Given the description of an element on the screen output the (x, y) to click on. 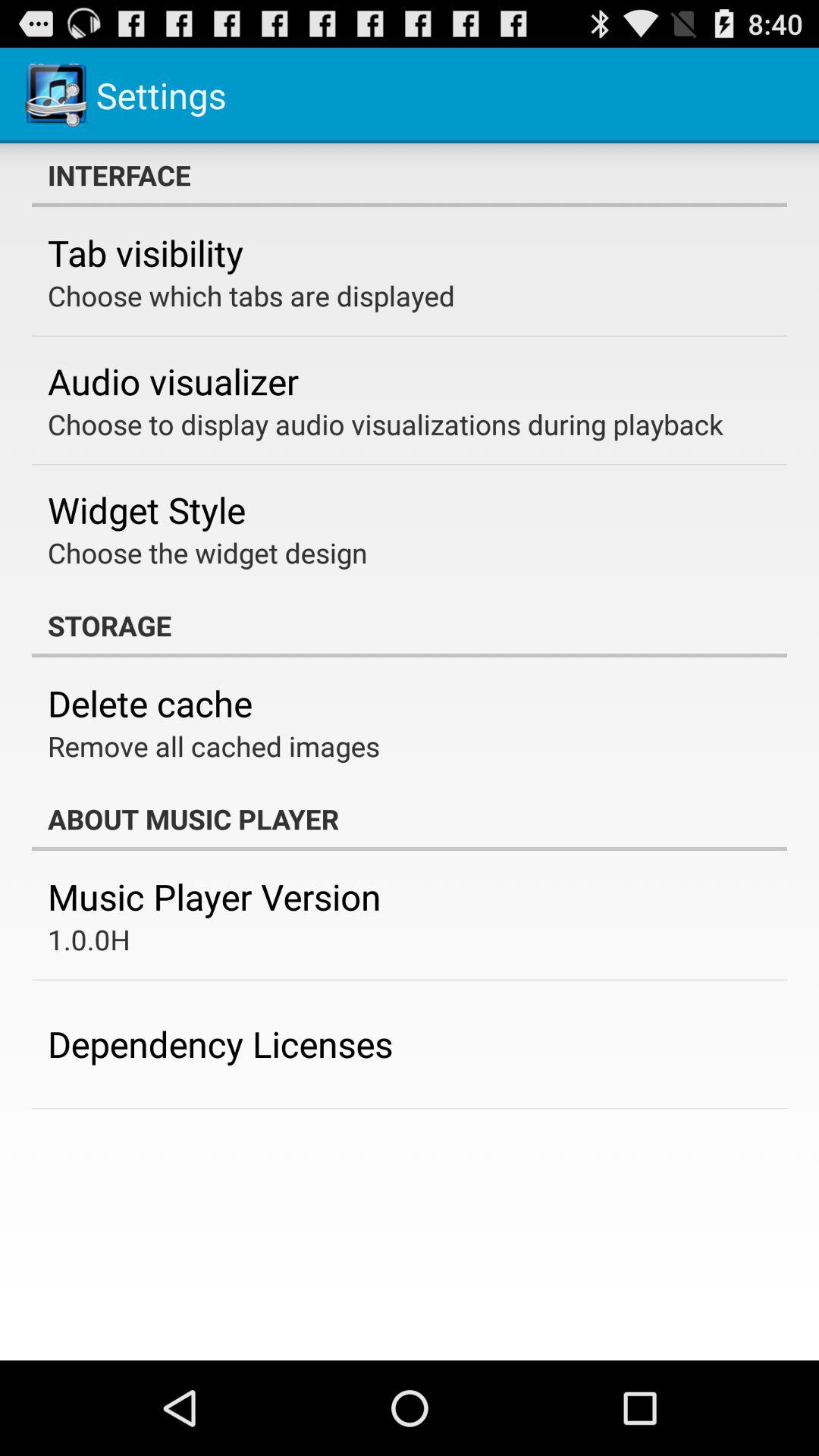
select 1.0.0h icon (88, 939)
